Given the description of an element on the screen output the (x, y) to click on. 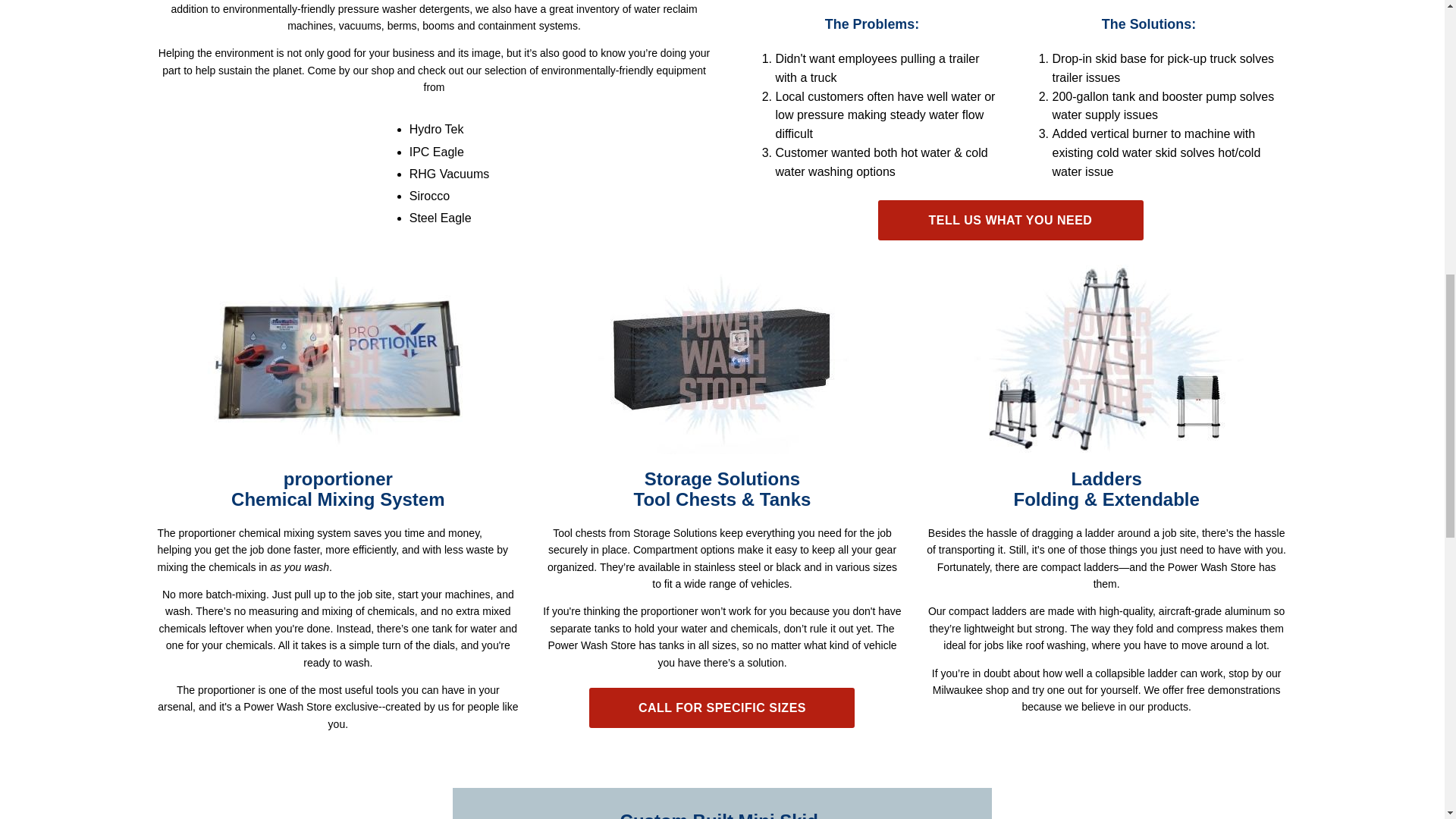
TELL US WHAT YOU NEED (1009, 219)
